Given the description of an element on the screen output the (x, y) to click on. 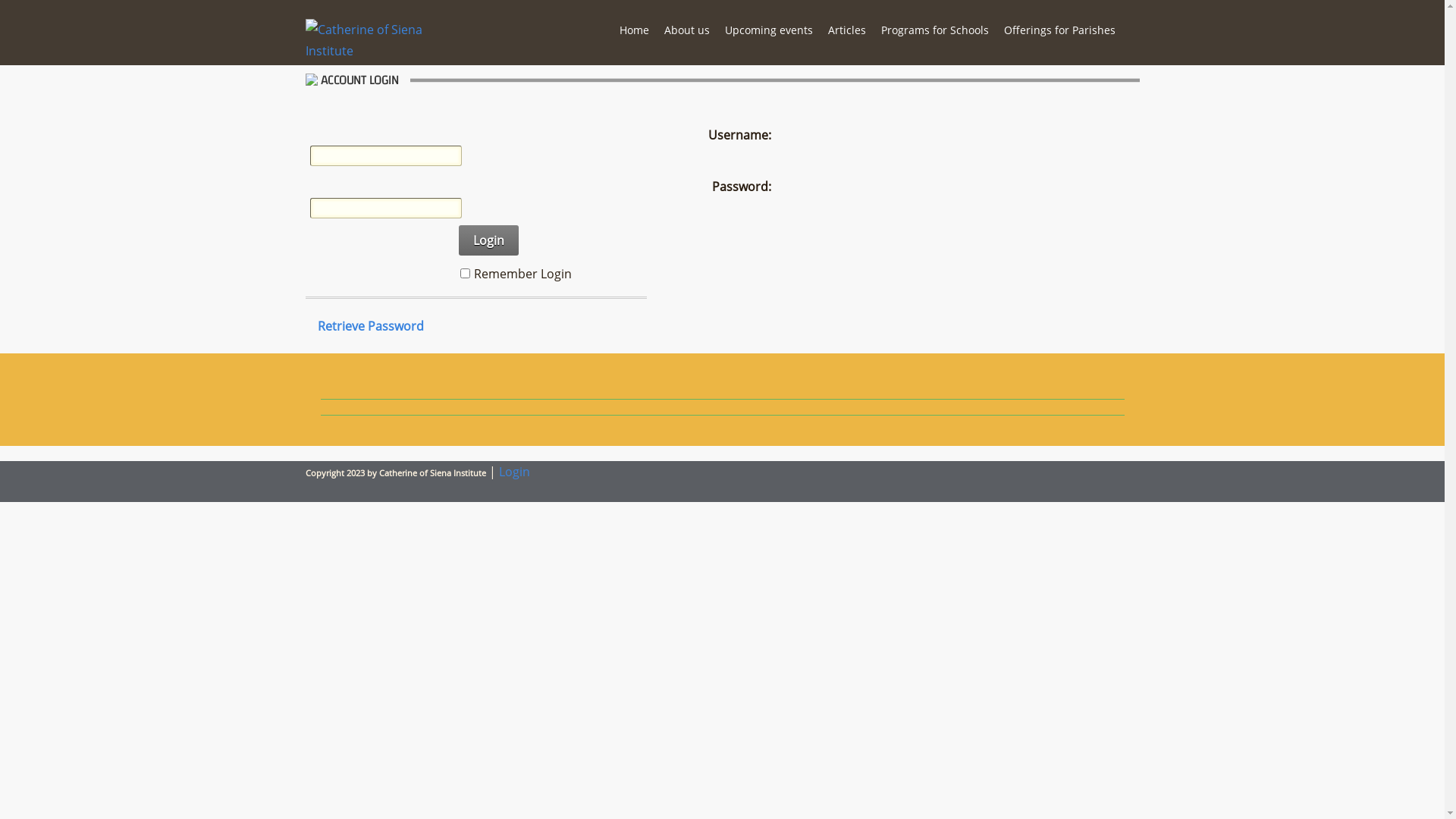
Catherine of Siena Institute Element type: hover (366, 50)
Offerings for Parishes Element type: text (1059, 29)
About us Element type: text (686, 29)
Login Element type: text (514, 471)
Home Element type: text (633, 29)
Retrieve Password Element type: text (369, 325)
Articles Element type: text (846, 29)
Login Element type: text (487, 240)
Programs for Schools Element type: text (934, 29)
Upcoming events Element type: text (768, 29)
